Given the description of an element on the screen output the (x, y) to click on. 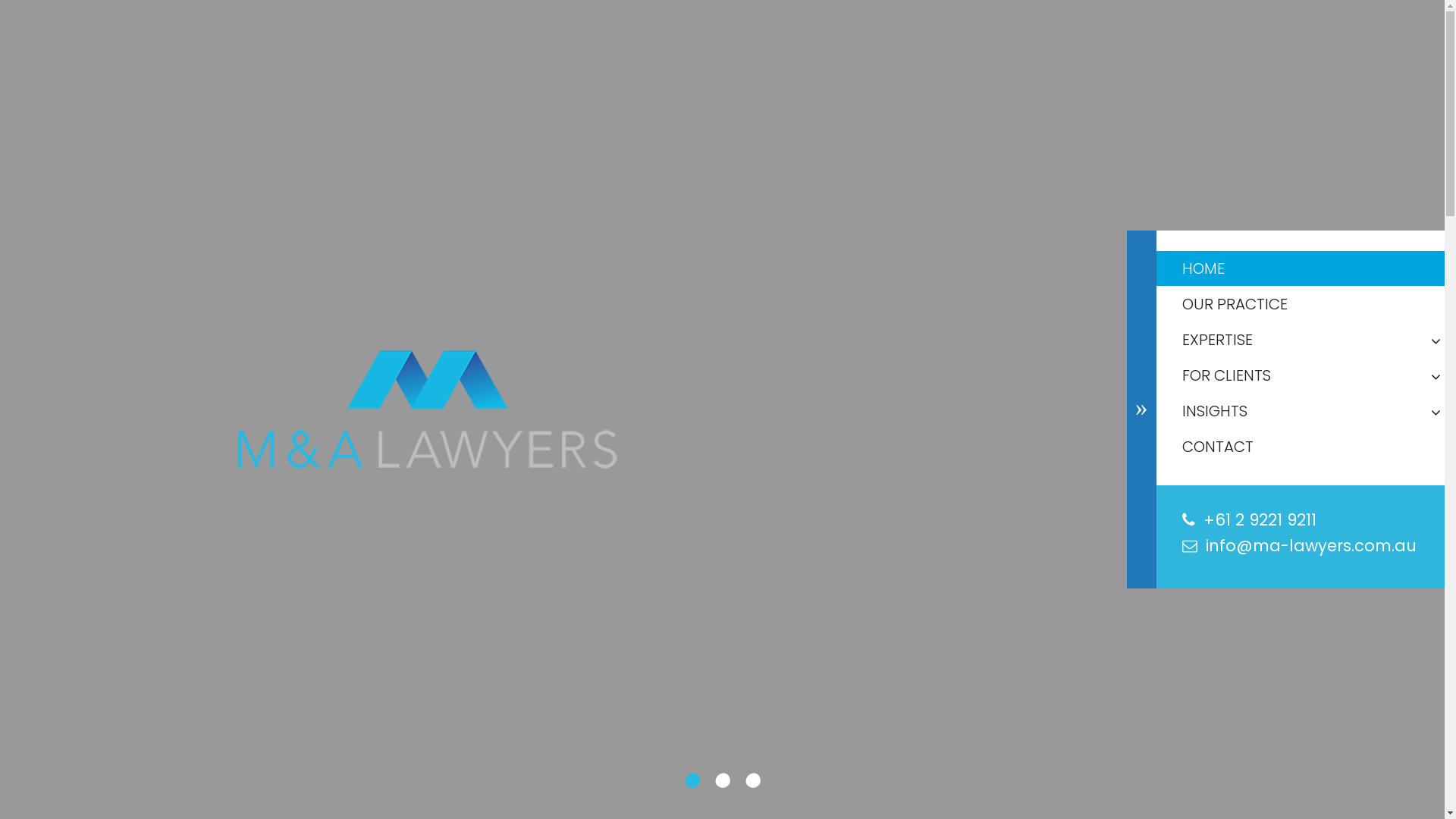
CONTACT Element type: text (1300, 446)
2 Element type: text (721, 779)
+61 2 9221 9211 Element type: text (1259, 519)
3 Element type: text (751, 779)
OUR PRACTICE Element type: text (1300, 303)
EXPERTISE Element type: text (1300, 339)
FOR CLIENTS Element type: text (1300, 374)
HOME Element type: text (1300, 268)
info@ma-lawyers.com.au Element type: text (1310, 545)
INSIGHTS Element type: text (1300, 410)
1 Element type: text (691, 779)
